Given the description of an element on the screen output the (x, y) to click on. 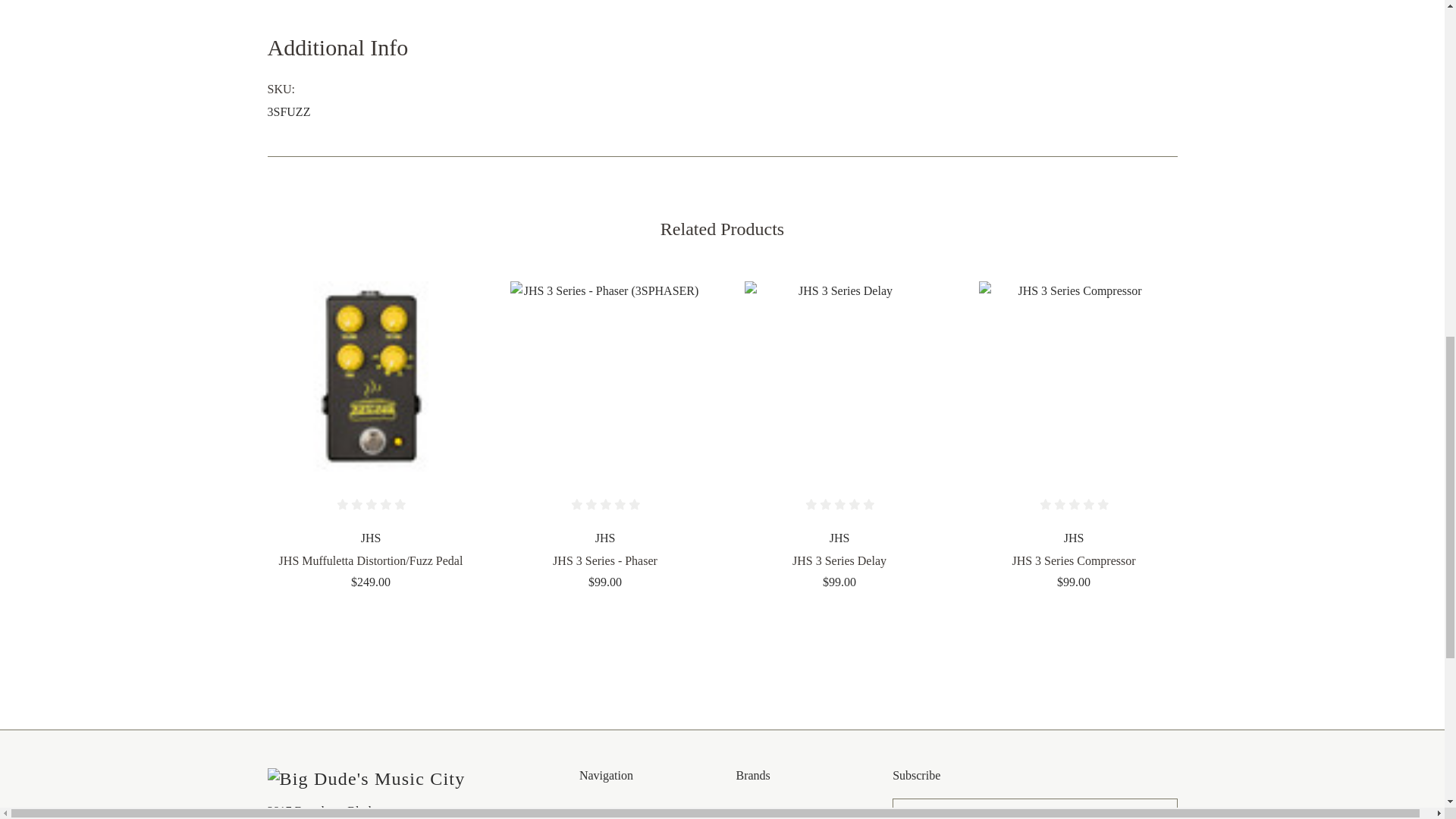
JHS 3 Series Delay (839, 376)
JHS 3 Series Compressor (1073, 376)
Big Dude's Music City (365, 779)
